Given the description of an element on the screen output the (x, y) to click on. 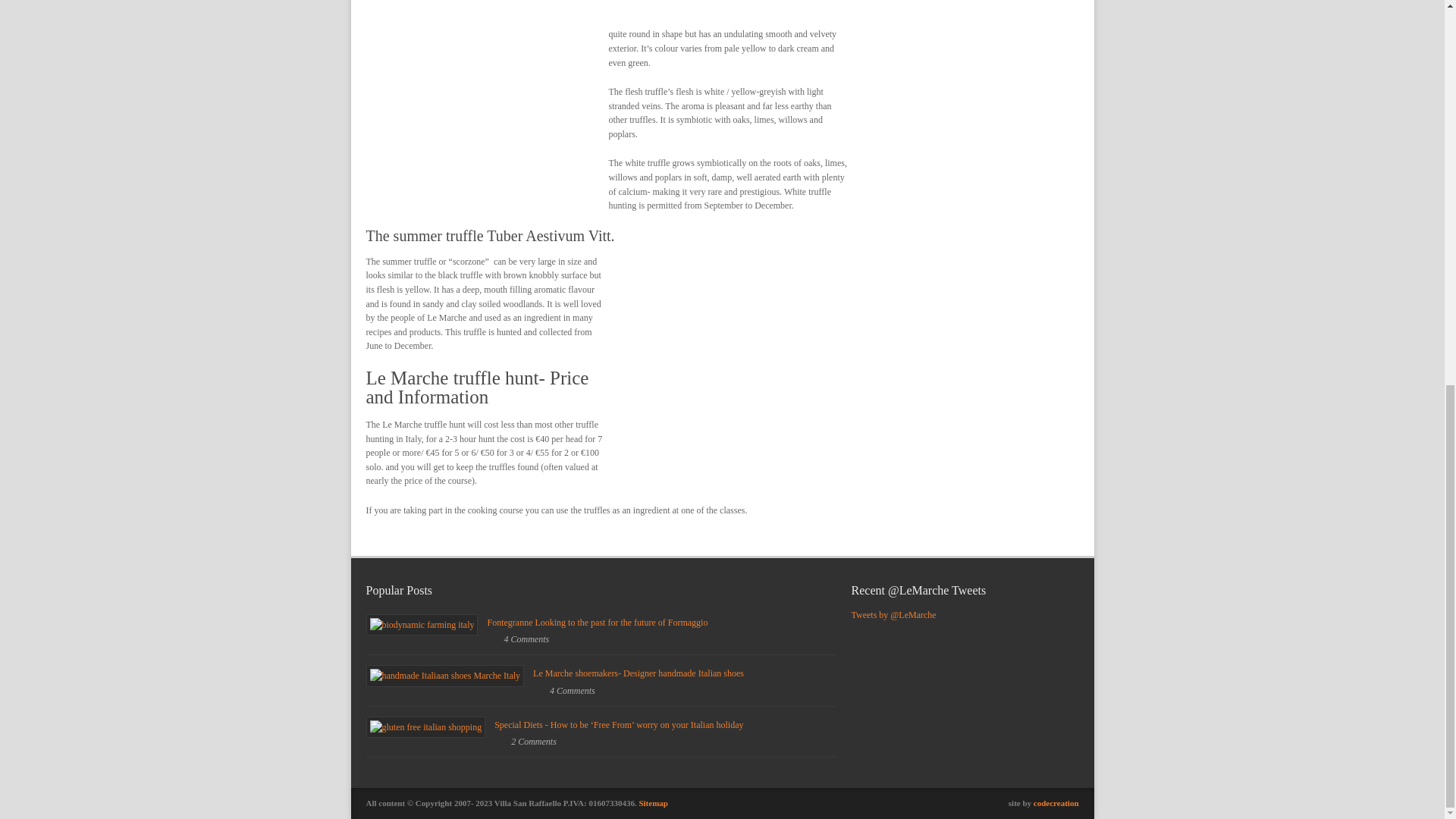
Sitemap (653, 802)
truffle hunting marche italy (485, 105)
hunt truffles italy (729, 364)
